Given the description of an element on the screen output the (x, y) to click on. 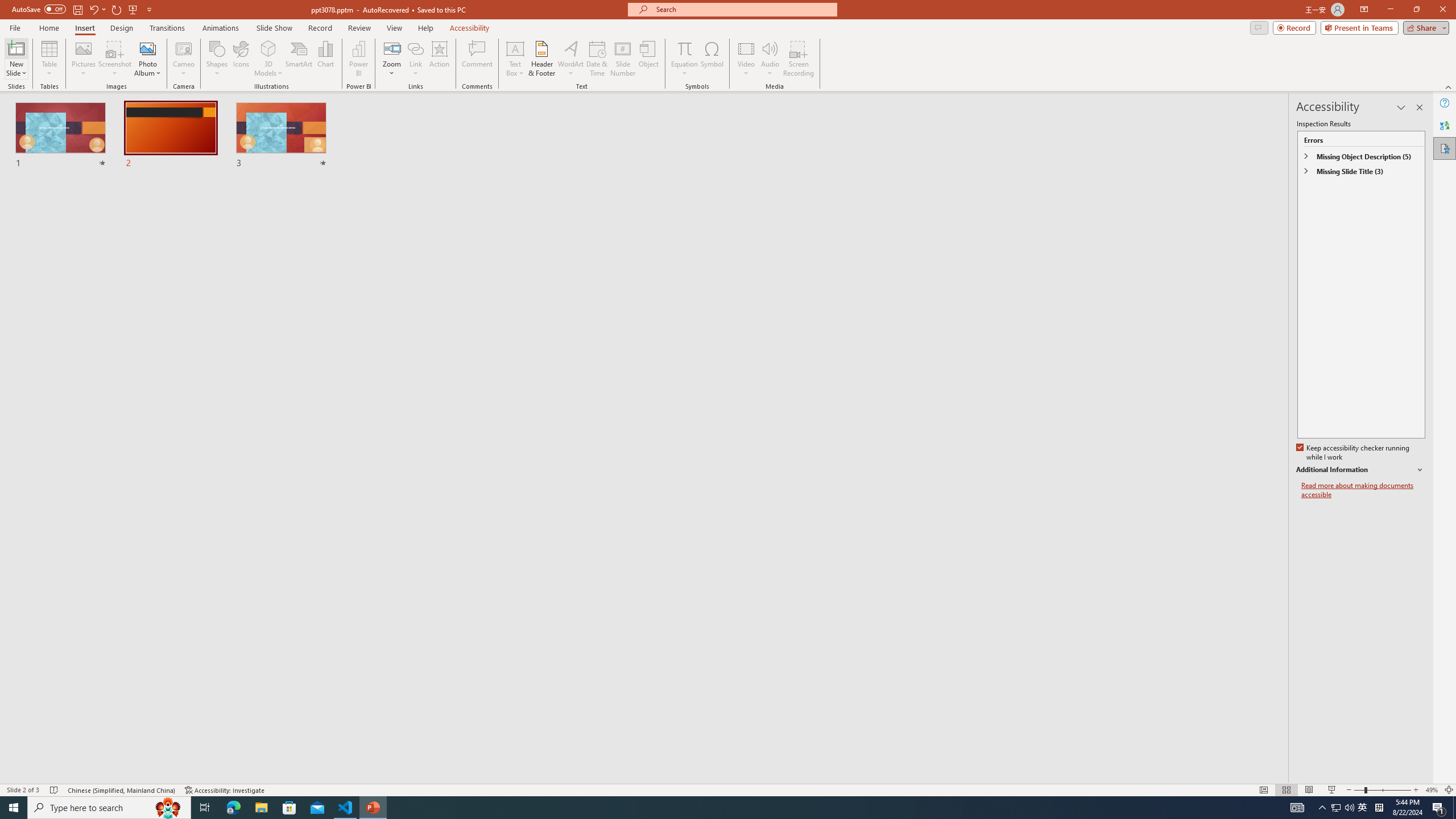
Table (49, 58)
Video (745, 58)
Link (415, 58)
